Given the description of an element on the screen output the (x, y) to click on. 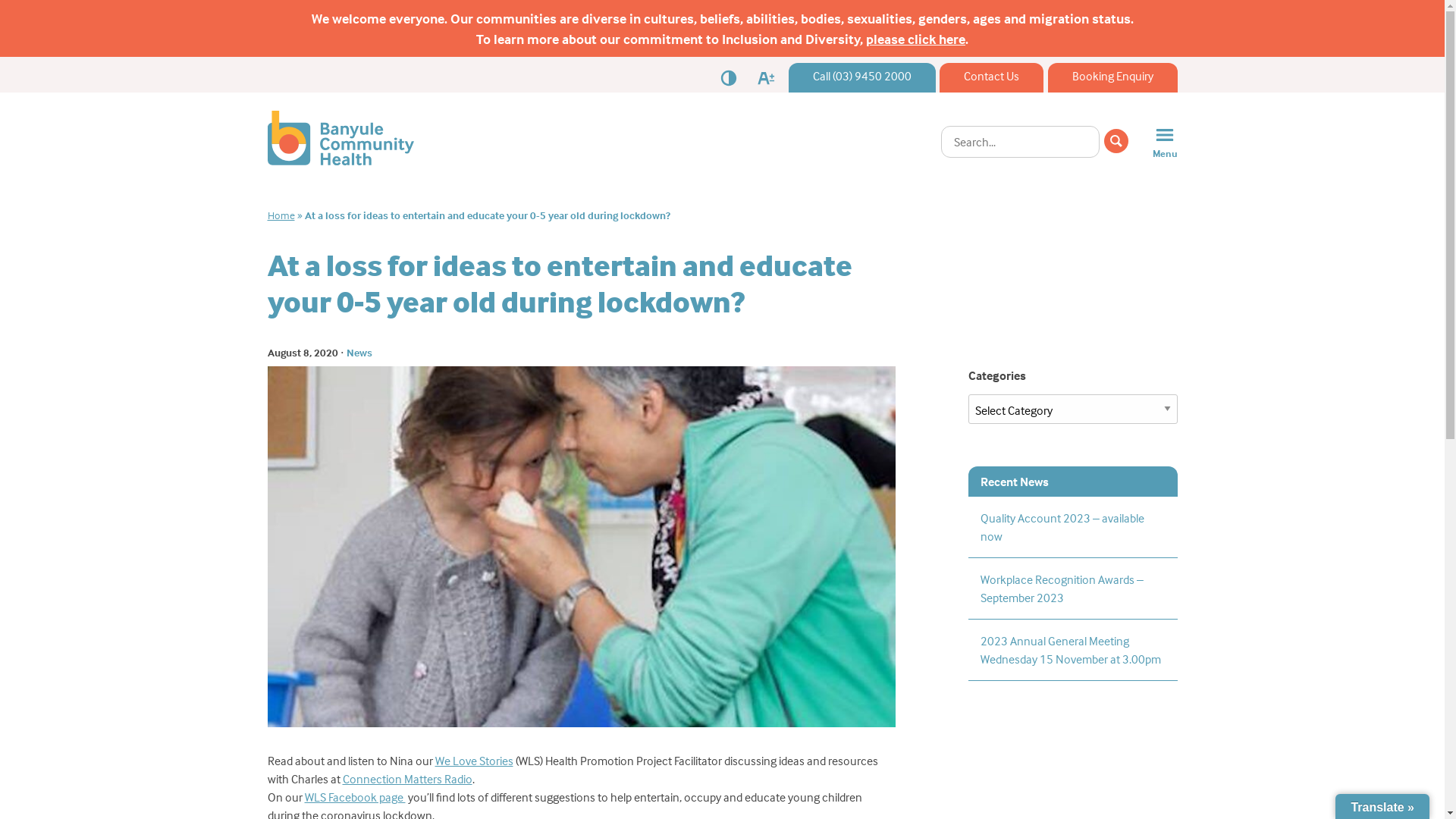
Booking Enquiry Element type: text (1112, 75)
please click here Element type: text (915, 38)
Menu Element type: text (1158, 140)
Contact Us Element type: text (991, 75)
Home Element type: text (280, 214)
2023 Annual General Meeting Wednesday 15 November at 3.00pm Element type: text (1071, 649)
Call (03) 9450 2000 Element type: text (861, 75)
WLS Facebook page  Element type: text (354, 796)
Connection Matters Radio Element type: text (407, 778)
Banyule Community Health Element type: text (339, 160)
News Element type: text (358, 351)
We Love Stories Element type: text (474, 760)
Contrast Element type: text (727, 75)
Font Size Element type: text (765, 75)
